Given the description of an element on the screen output the (x, y) to click on. 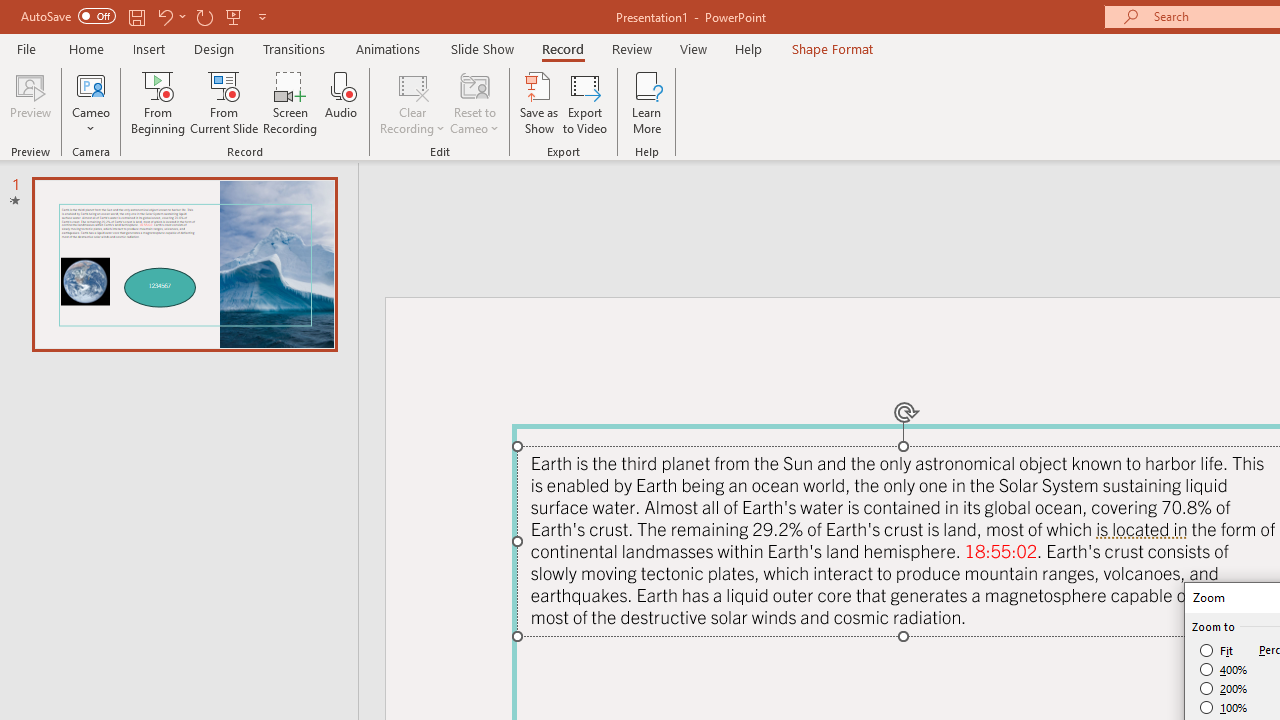
100% (1224, 707)
